Given the description of an element on the screen output the (x, y) to click on. 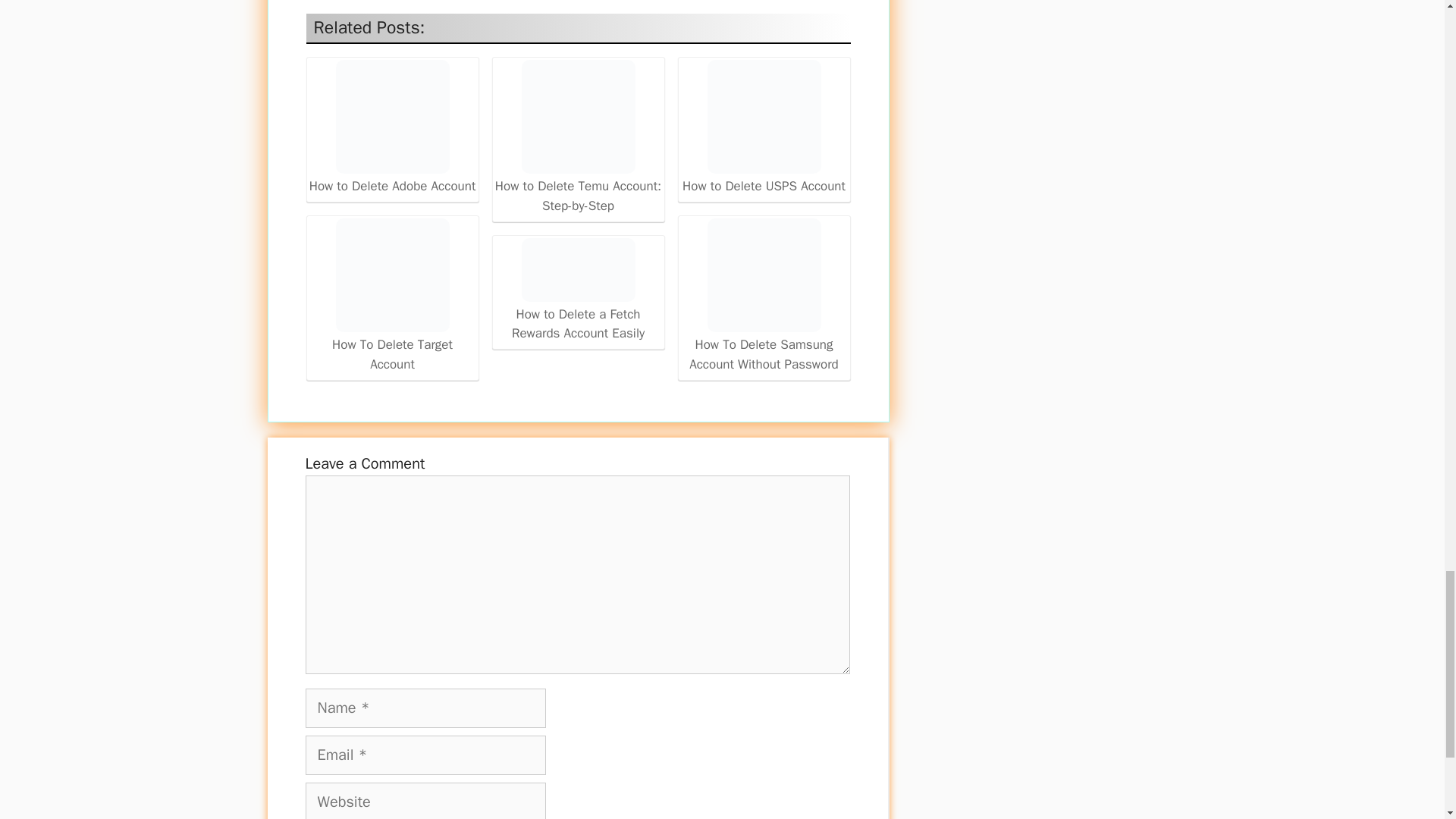
How to Delete a Fetch Rewards Account Easily (577, 270)
How to Delete Adobe Account (391, 116)
How to Delete Temu Account: Step-by-Step (577, 116)
How To Delete Target Account (392, 295)
How to Delete USPS Account (764, 127)
How to Delete Temu Account: Step-by-Step (578, 137)
How To Delete Target Account (391, 275)
How To Delete Samsung Account Without Password (764, 295)
How to Delete Adobe Account (392, 128)
How to Delete a Fetch Rewards Account Easily (578, 290)
